Given the description of an element on the screen output the (x, y) to click on. 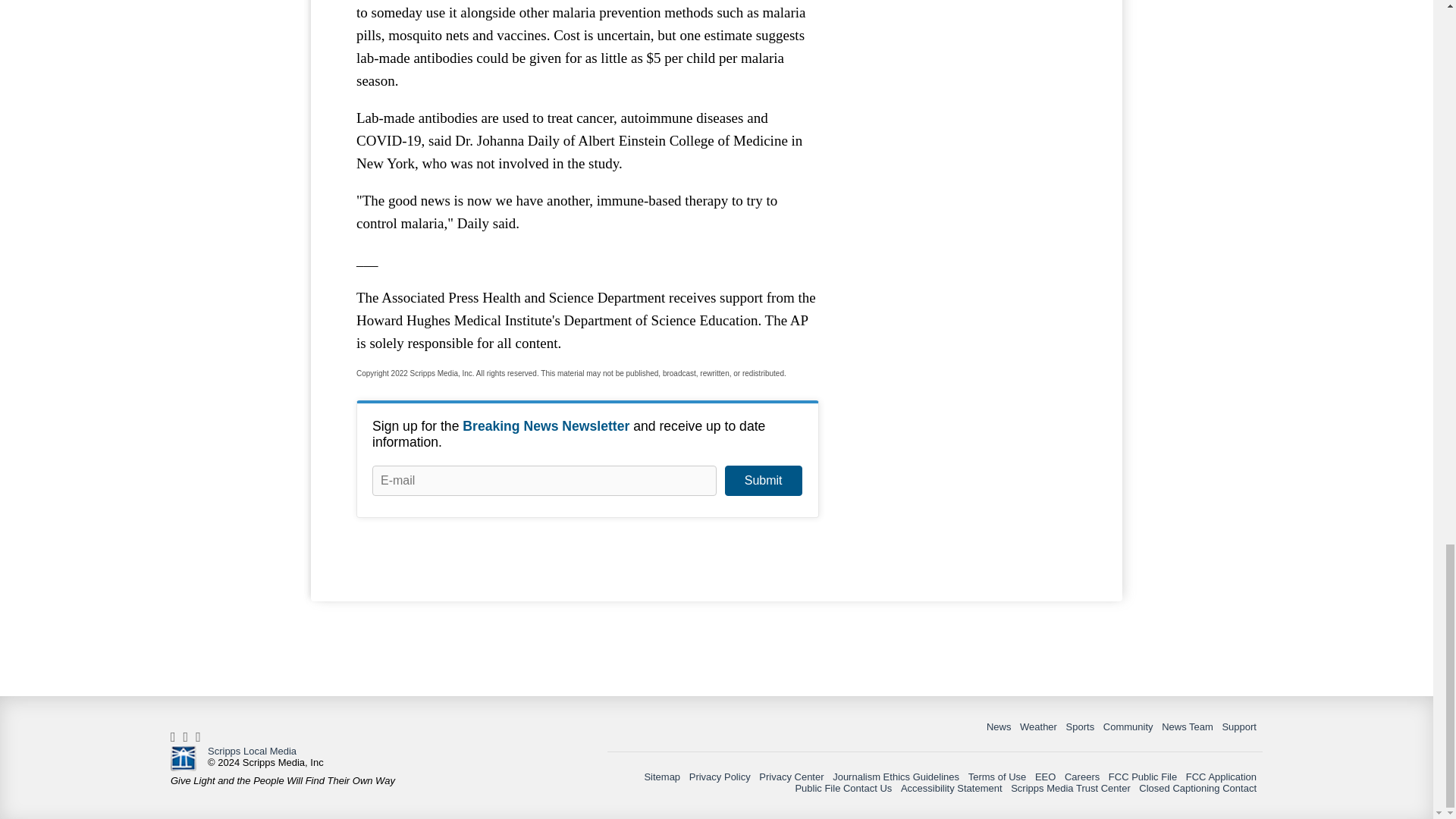
Submit (763, 481)
